Given the description of an element on the screen output the (x, y) to click on. 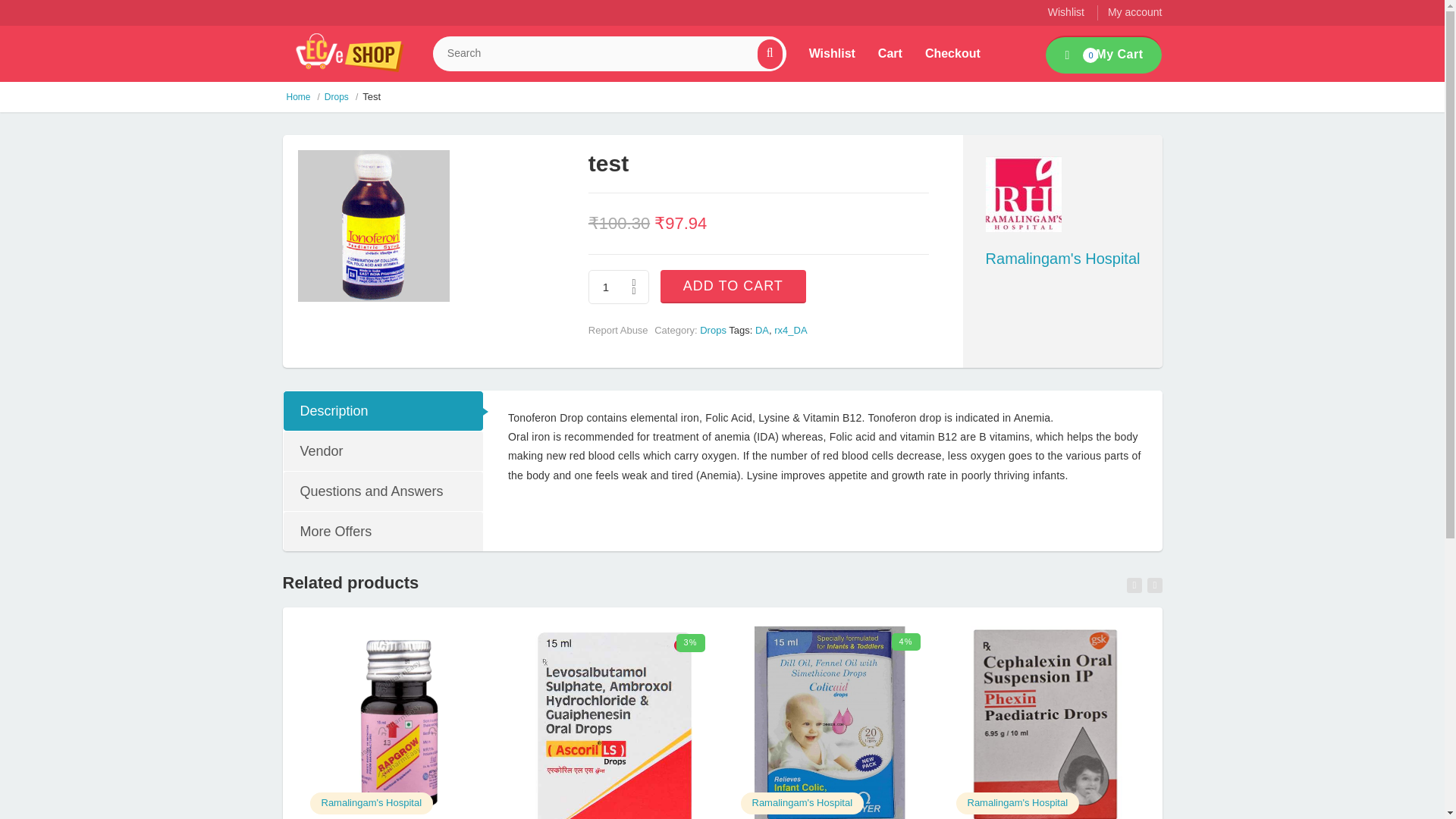
1 (618, 286)
Ramalingam'S Hospital (371, 802)
COLICAID DROPS 15ML (828, 722)
Drops (336, 96)
ADD TO CART (733, 286)
PHEXIN DROPS (1044, 722)
Wishlist (1066, 11)
Wishlist (831, 53)
Questions and Answers (382, 490)
COLICAID DROPS 15ML (802, 802)
Qty (618, 286)
RAPGROW DROPS (371, 802)
Report Abuse (617, 329)
Drops (713, 329)
DA (761, 329)
